Given the description of an element on the screen output the (x, y) to click on. 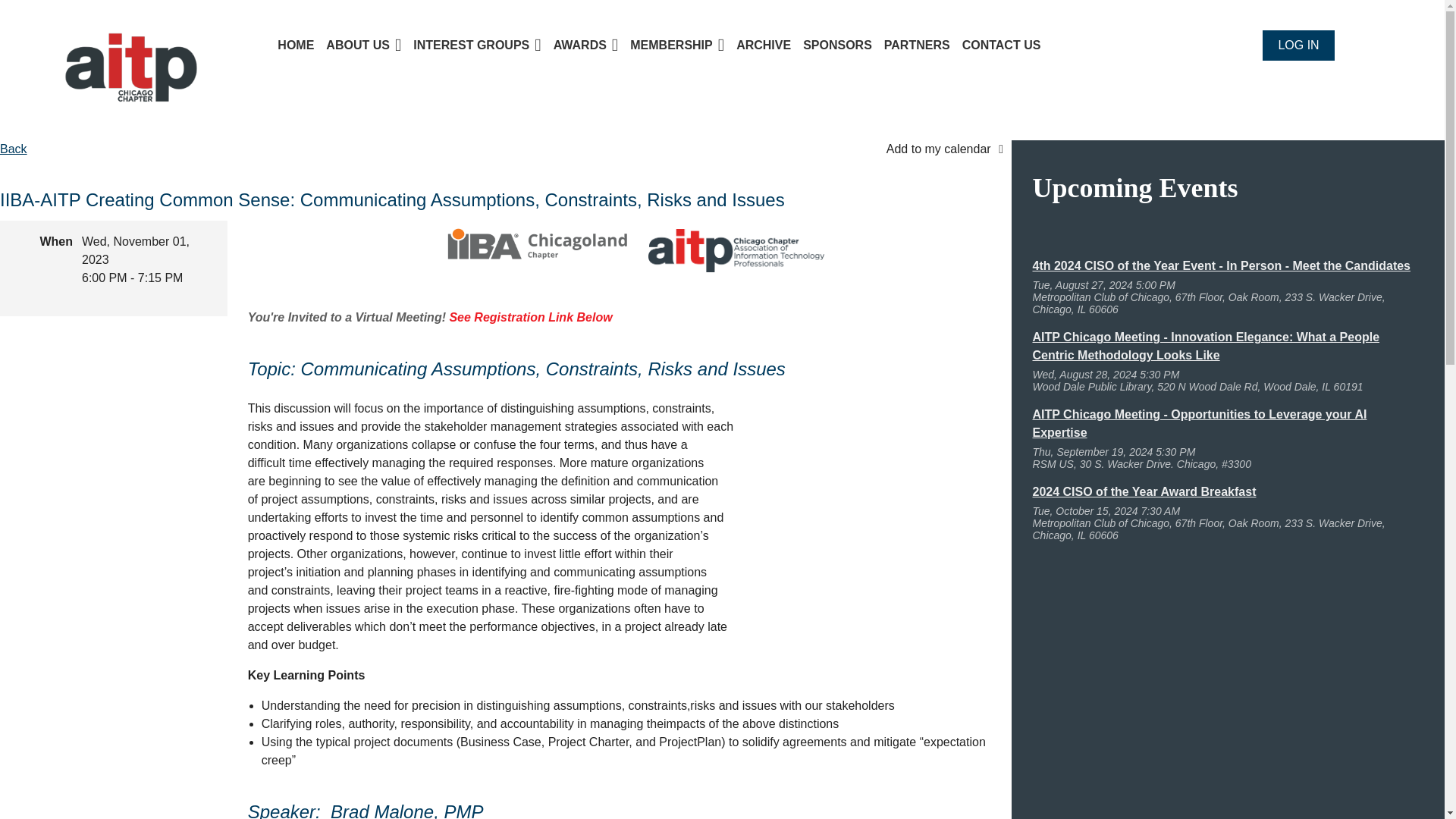
ABOUT US (369, 44)
HOME (302, 44)
INTEREST GROUPS (483, 44)
